Given the description of an element on the screen output the (x, y) to click on. 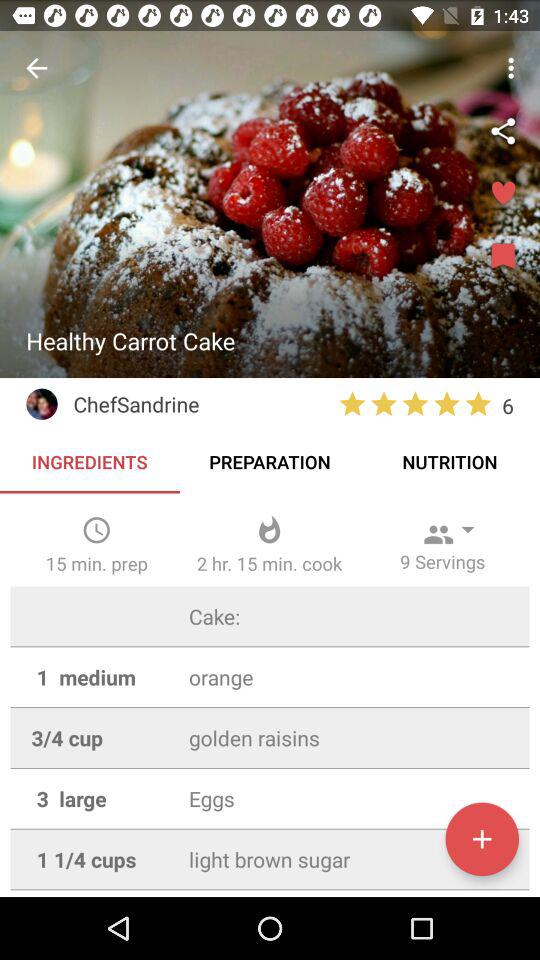
increment butten (482, 839)
